Given the description of an element on the screen output the (x, y) to click on. 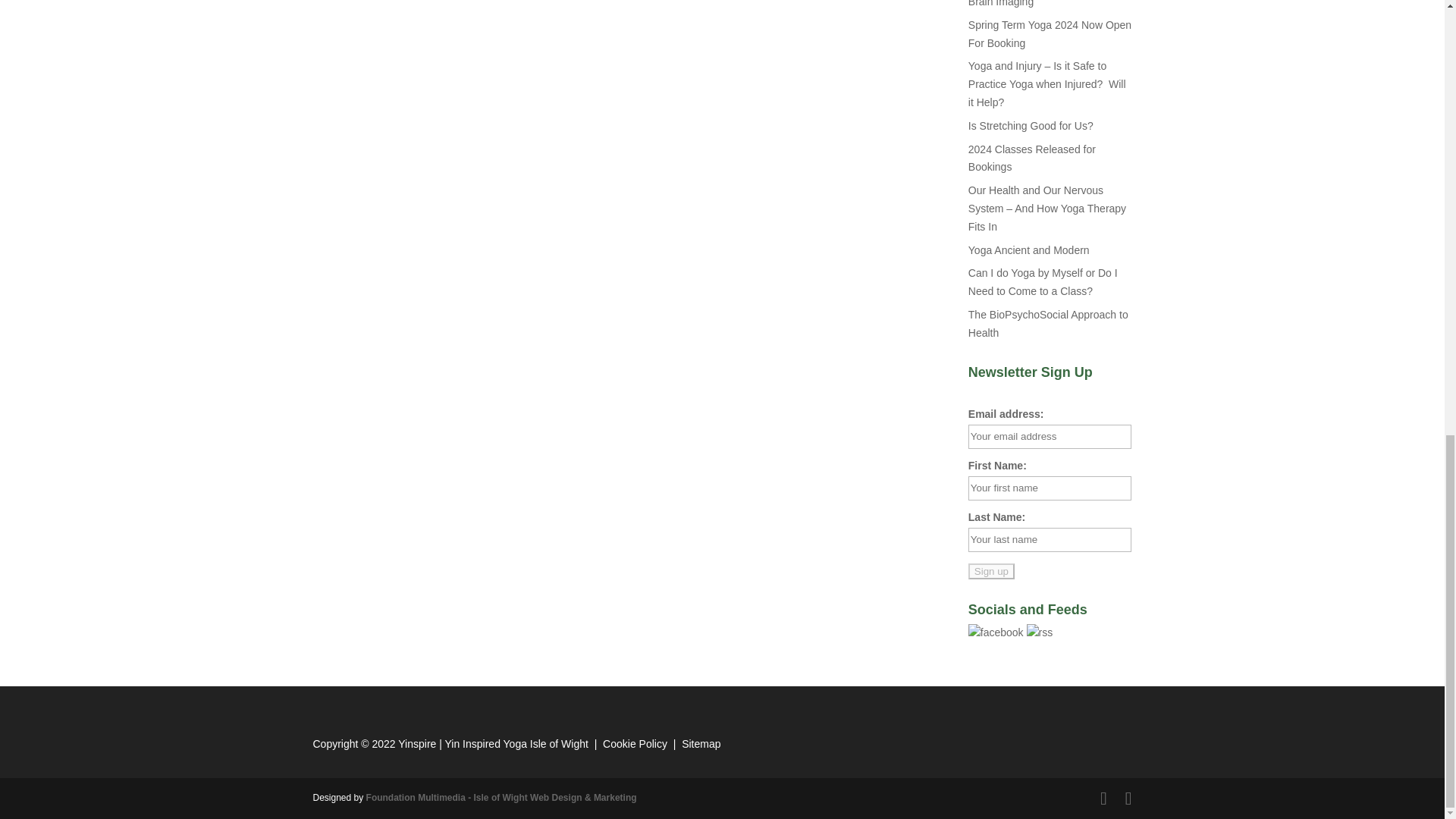
Spring Term Yoga 2024 Now Open For Booking (1049, 33)
Yoga Ancient and Modern (1028, 250)
Web Design on the Isle of Wight (501, 797)
2024 Classes Released for Bookings (1032, 158)
Is Stretching Good for Us? (1030, 125)
Can I do Yoga by Myself or Do I Need to Come to a Class? (1043, 281)
Yin Inspired Yoga Isle of Wight (516, 743)
rss (1039, 633)
Sign up (991, 571)
